Given the description of an element on the screen output the (x, y) to click on. 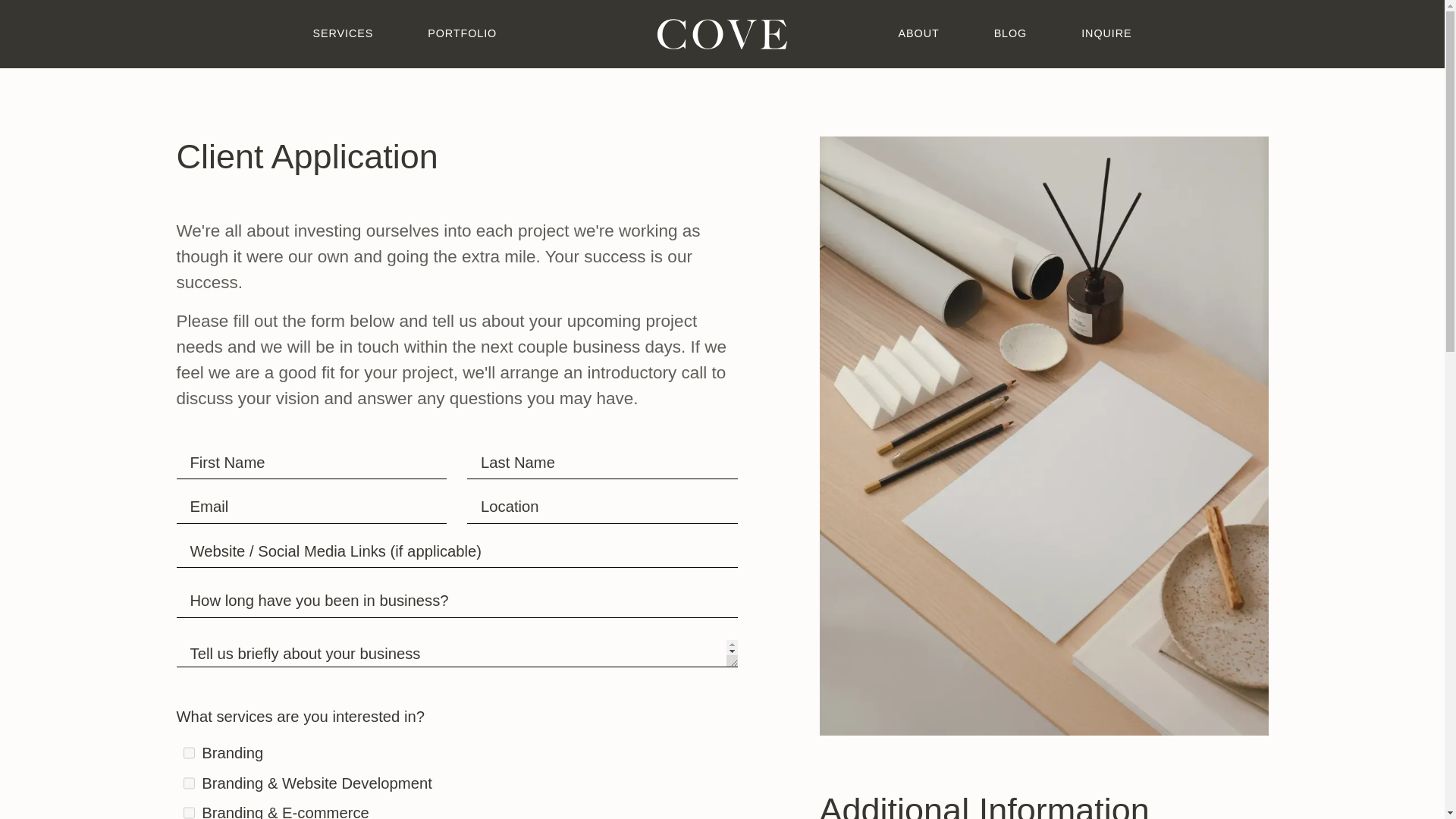
BLOG (1010, 33)
PORTFOLIO (462, 33)
on (189, 812)
ABOUT (918, 33)
INQUIRE (1106, 33)
on (189, 752)
on (189, 783)
